Given the description of an element on the screen output the (x, y) to click on. 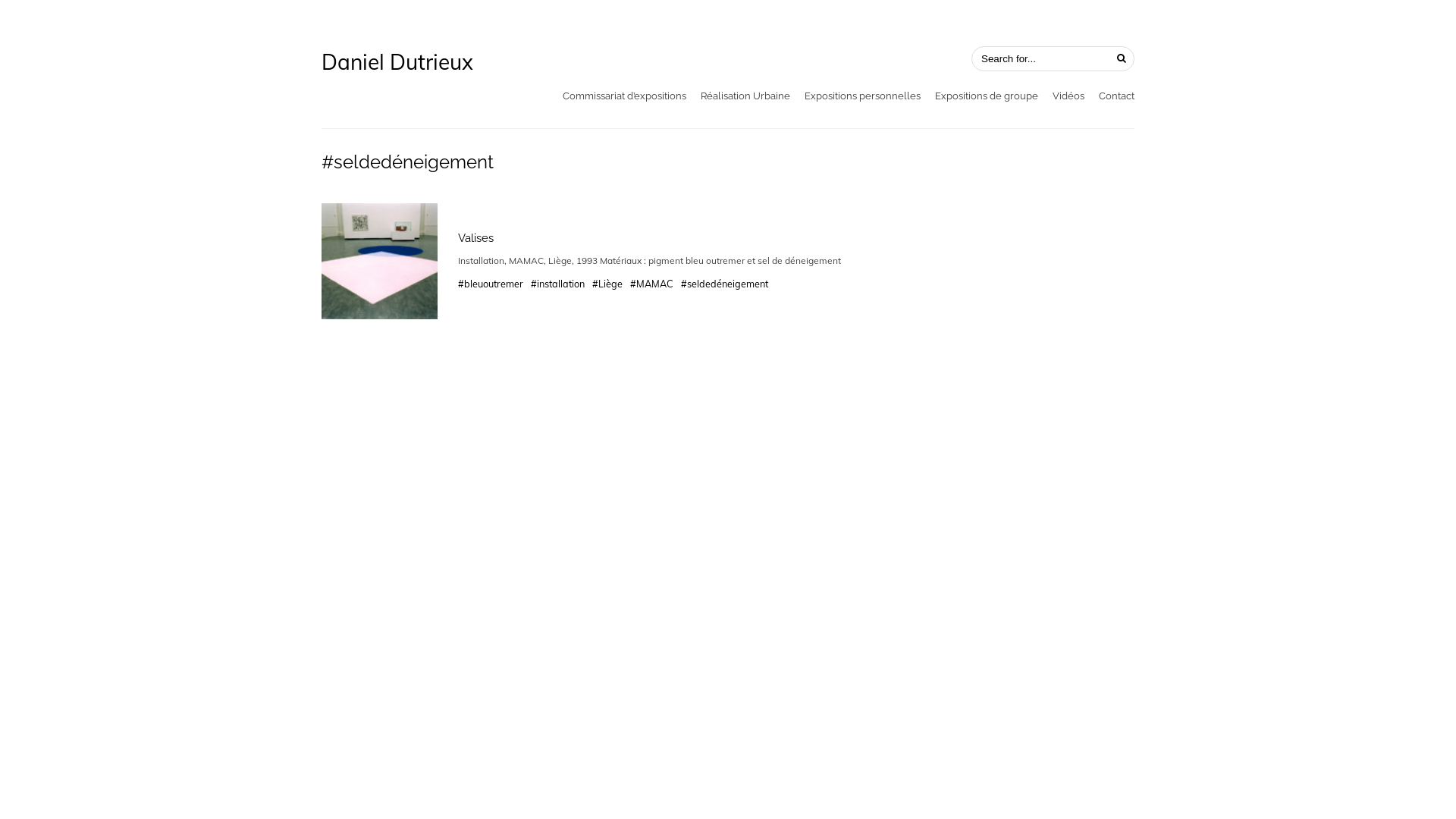
Valises Element type: text (475, 237)
Expositions de groupe Element type: text (986, 95)
#MAMAC Element type: text (651, 284)
Valises Element type: hover (379, 261)
Contact Element type: text (1116, 95)
#installation Element type: text (557, 284)
Expositions personnelles Element type: text (862, 95)
Daniel Dutrieux Element type: text (397, 62)
#bleuoutremer Element type: text (490, 284)
